Given the description of an element on the screen output the (x, y) to click on. 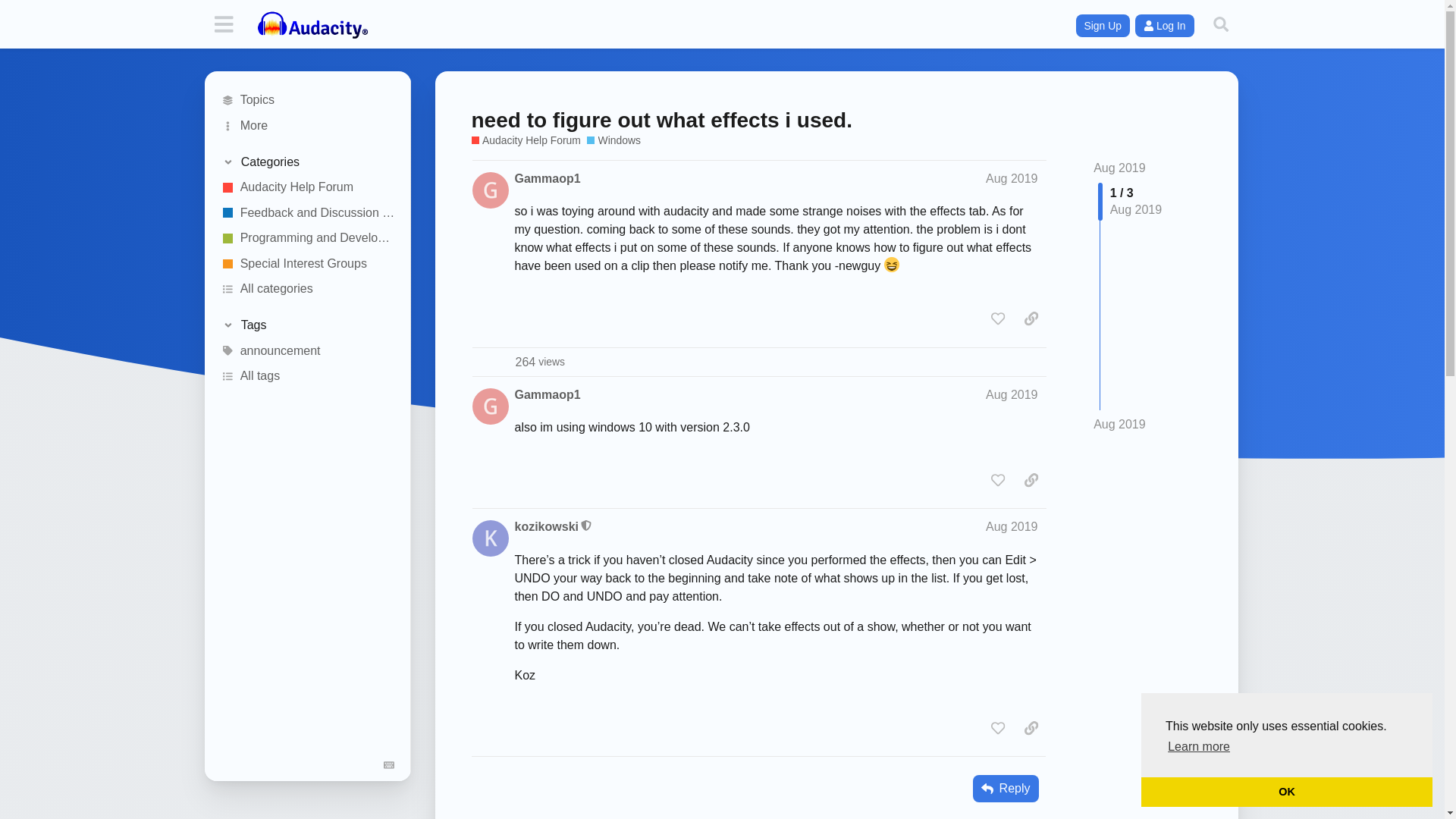
Keyboard Shortcuts (389, 764)
Toggle section (306, 162)
Ask your questions in this forum. (538, 361)
All categories (307, 186)
Topics (307, 289)
Jump to the last post (307, 100)
Learn more (1119, 423)
Help for Audacity on Windows. (1198, 746)
need to figure out what effects i used. (613, 140)
